Given the description of an element on the screen output the (x, y) to click on. 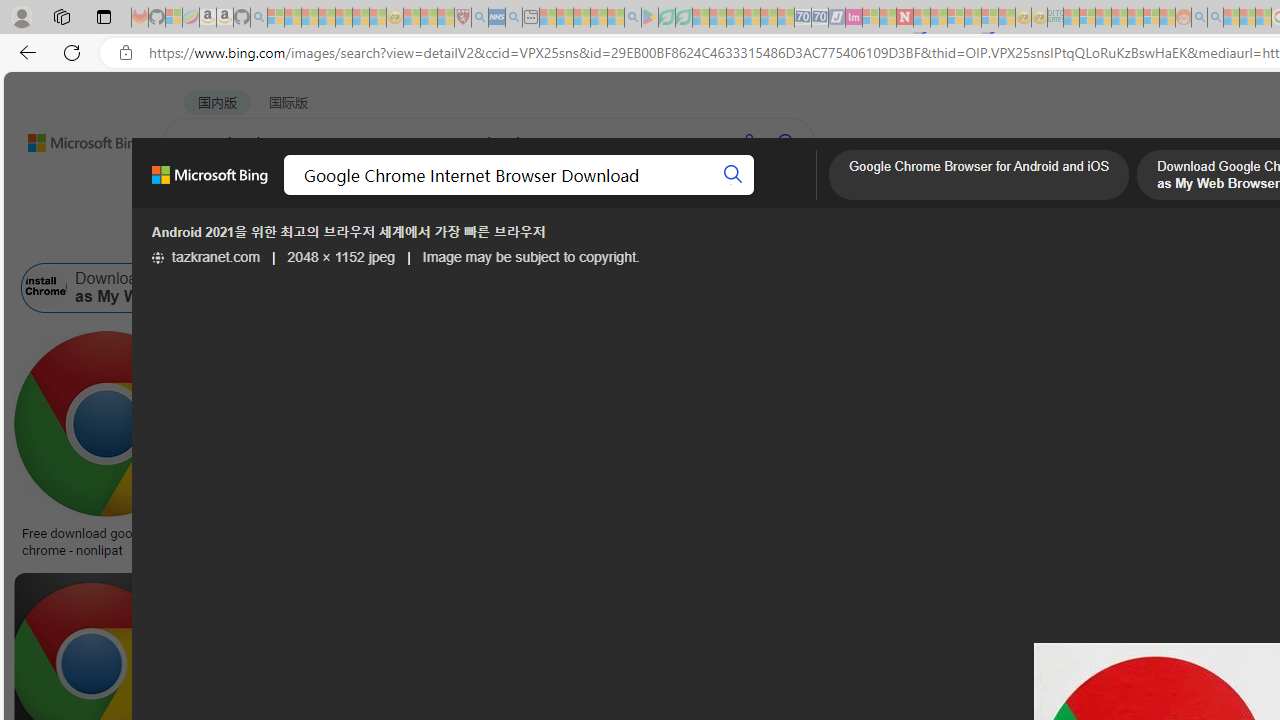
Microsoft Bing, Back to Bing search (209, 183)
Bluey: Let's Play! - Apps on Google Play - Sleeping (649, 17)
Class: b_pri_nav_svg (423, 196)
People (521, 237)
Free download google chrome - nonlipat (106, 541)
Free download google chrome - nonlipatSave (110, 448)
ACADEMIC (635, 195)
Cheap Hotels - Save70.com - Sleeping (819, 17)
Class: item col (1143, 287)
License (664, 237)
Google Chrome Browser for Android and iOS (978, 177)
